Given the description of an element on the screen output the (x, y) to click on. 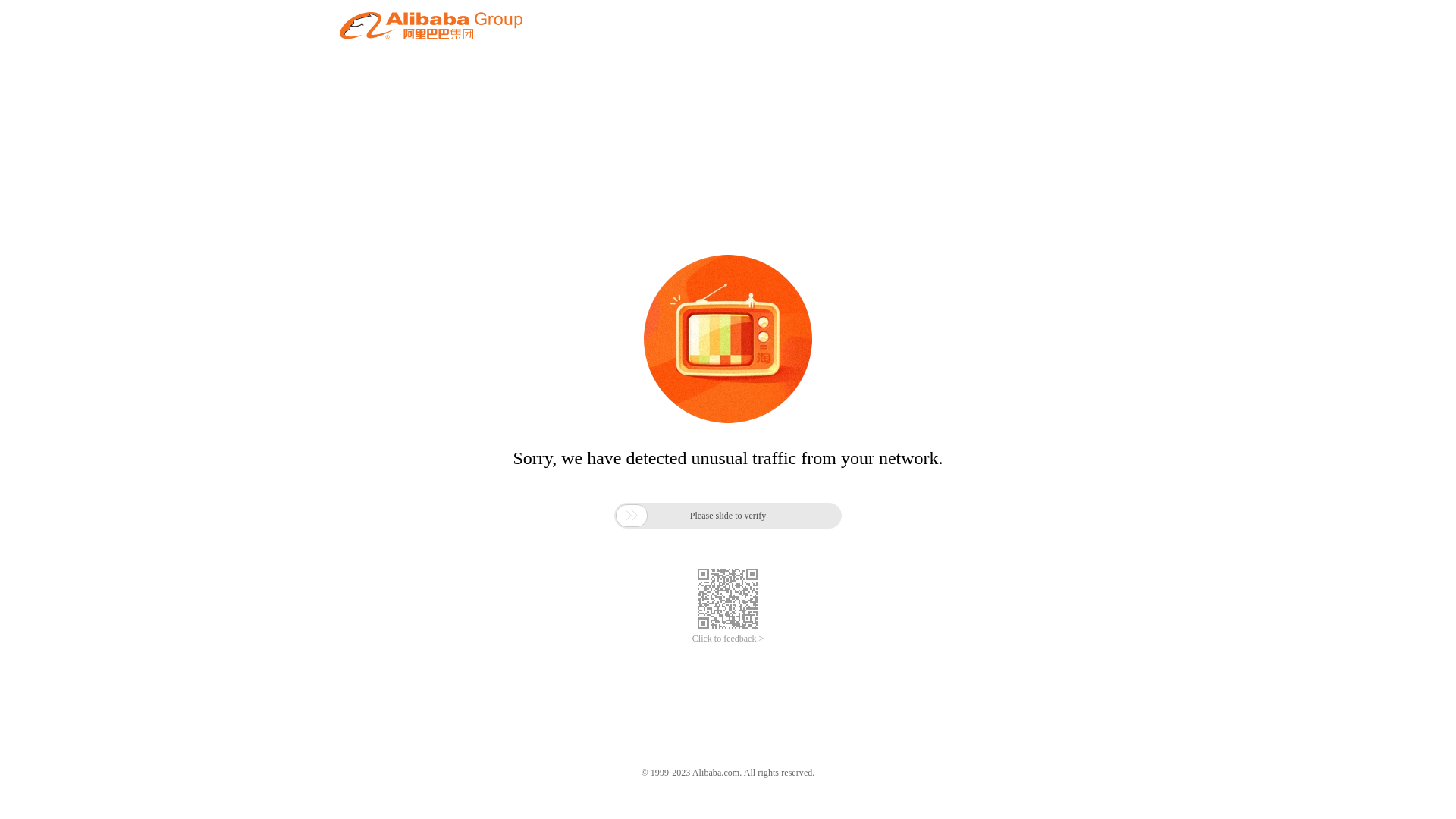
Click to feedback > Element type: text (727, 638)
